Given the description of an element on the screen output the (x, y) to click on. 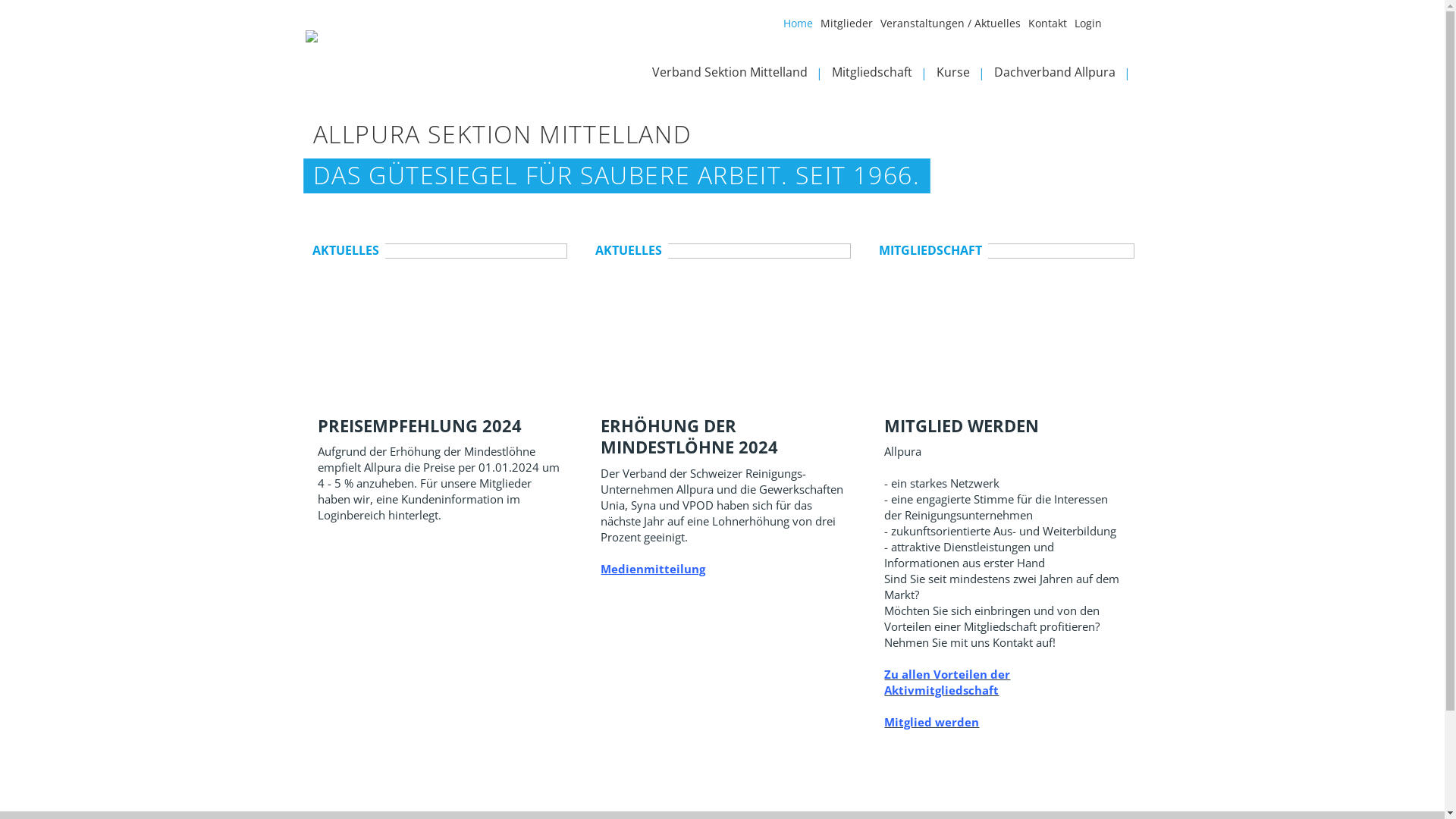
Kurse Element type: text (964, 75)
Home Element type: text (800, 26)
Kontakt Element type: text (1051, 26)
Dachverband Allpura Element type: text (1066, 75)
Medienmitteilung Element type: text (652, 568)
Mitgliedschaft Element type: text (883, 75)
Veranstaltungen / Aktuelles Element type: text (953, 26)
Login Element type: text (1090, 26)
Verband Sektion Mittelland Element type: text (741, 75)
Zu allen Vorteilen der Aktivmitgliedschaft Element type: text (947, 681)
Mitglied werden Element type: text (931, 721)
Mitglieder Element type: text (850, 26)
